Given the description of an element on the screen output the (x, y) to click on. 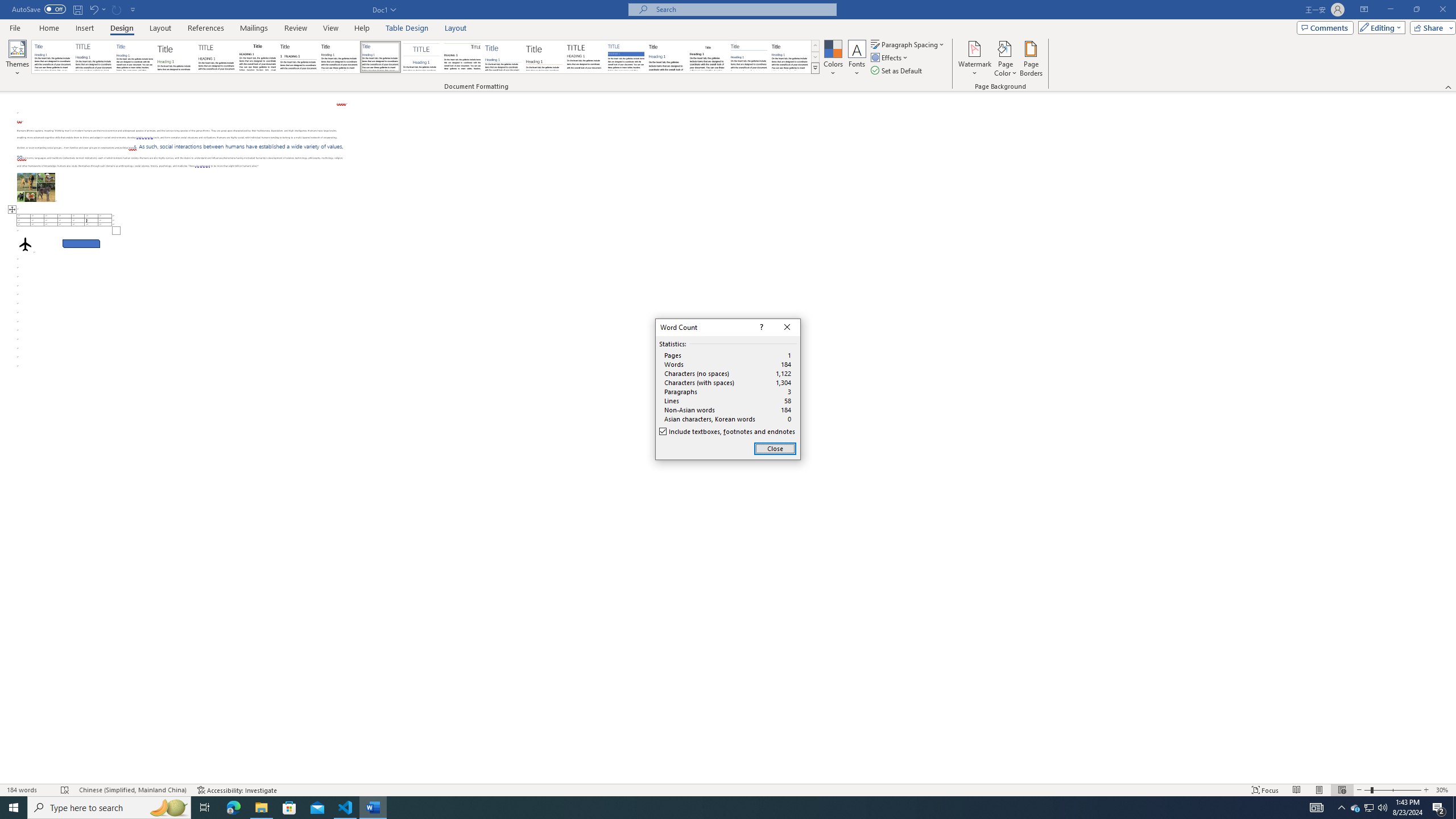
Zoom Out (1367, 790)
Rectangle: Diagonal Corners Snipped 2 (81, 243)
Lines (Stylish) (544, 56)
Running applications (717, 807)
Word 2010 (749, 56)
Q2790: 100% (1382, 807)
Task View (204, 807)
Microsoft Edge (233, 807)
Watermark (974, 58)
Lines (Simple) (503, 56)
Set as Default (897, 69)
Microsoft search (742, 9)
System (6, 6)
Centered (421, 56)
